Given the description of an element on the screen output the (x, y) to click on. 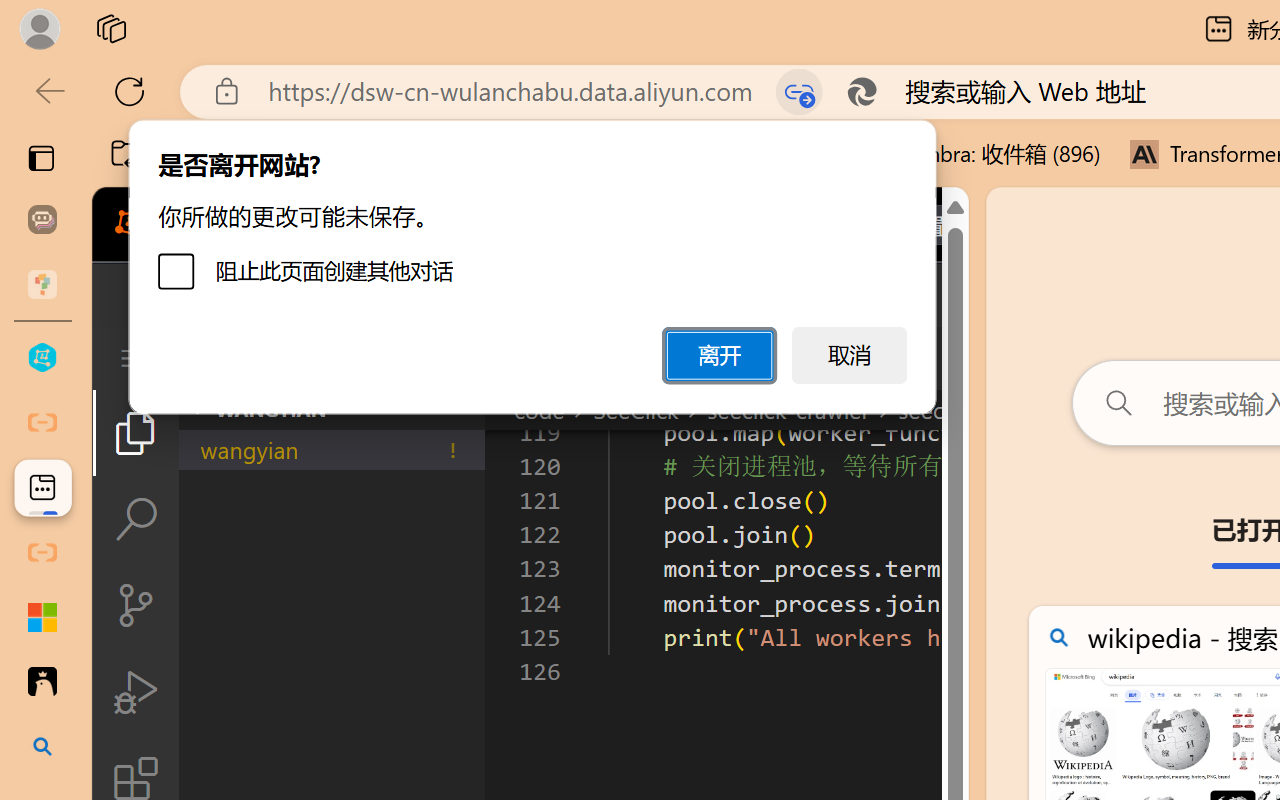
Run and Debug (Ctrl+Shift+D) (135, 692)
Adjust indents and spacing - Microsoft Support (42, 617)
